Given the description of an element on the screen output the (x, y) to click on. 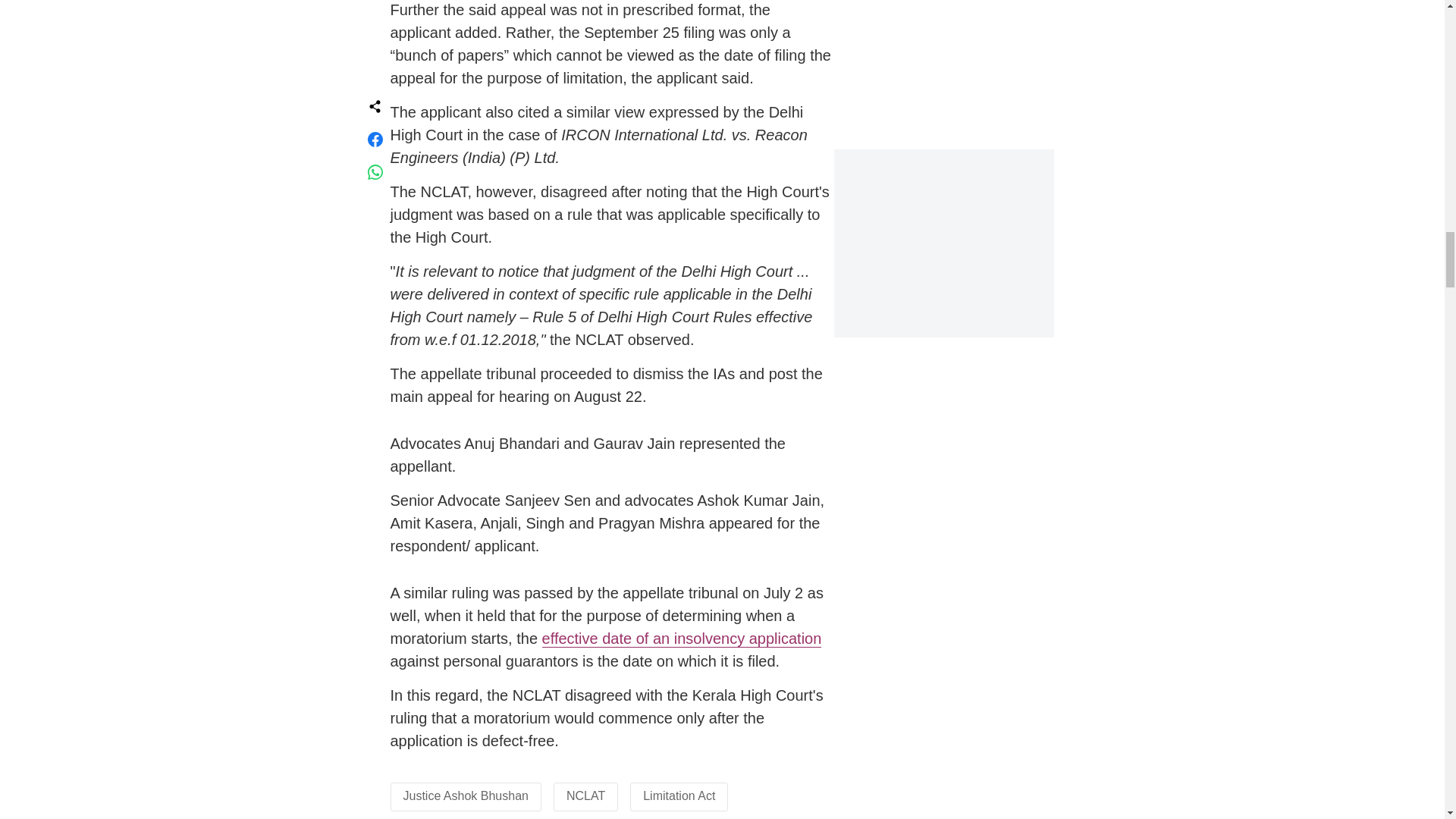
Justice Ashok Bhushan (465, 795)
Limitation Act (678, 795)
effective date of an insolvency application (681, 638)
NCLAT (585, 795)
